Given the description of an element on the screen output the (x, y) to click on. 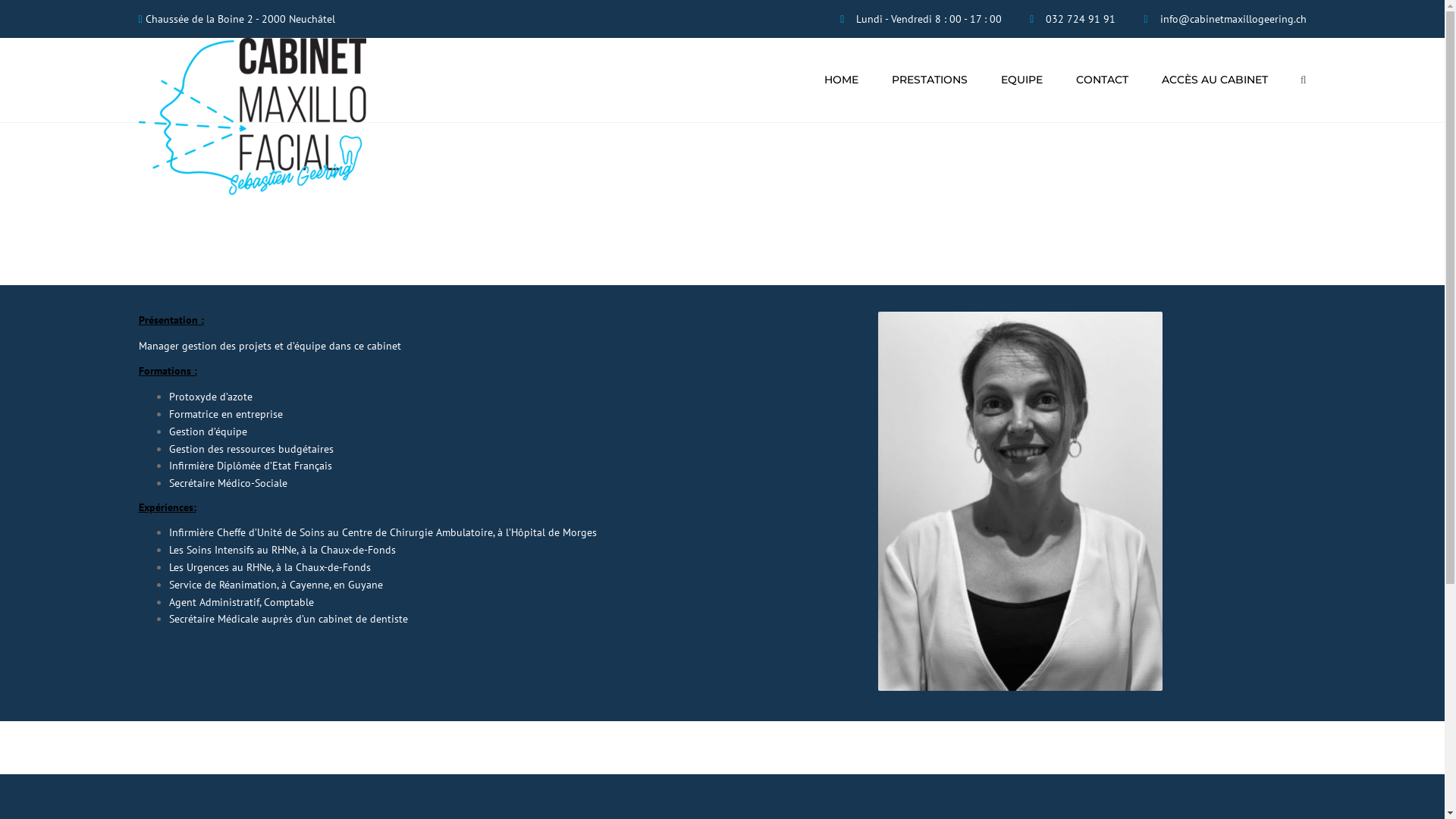
EQUIPE Element type: text (1021, 79)
info@cabinetmaxillogeering.ch Element type: text (1233, 18)
032 724 91 91 Element type: text (1080, 18)
Search Element type: text (1303, 80)
HOME Element type: text (841, 79)
PRESTATIONS Element type: text (929, 79)
CONTACT Element type: text (1101, 79)
